Given the description of an element on the screen output the (x, y) to click on. 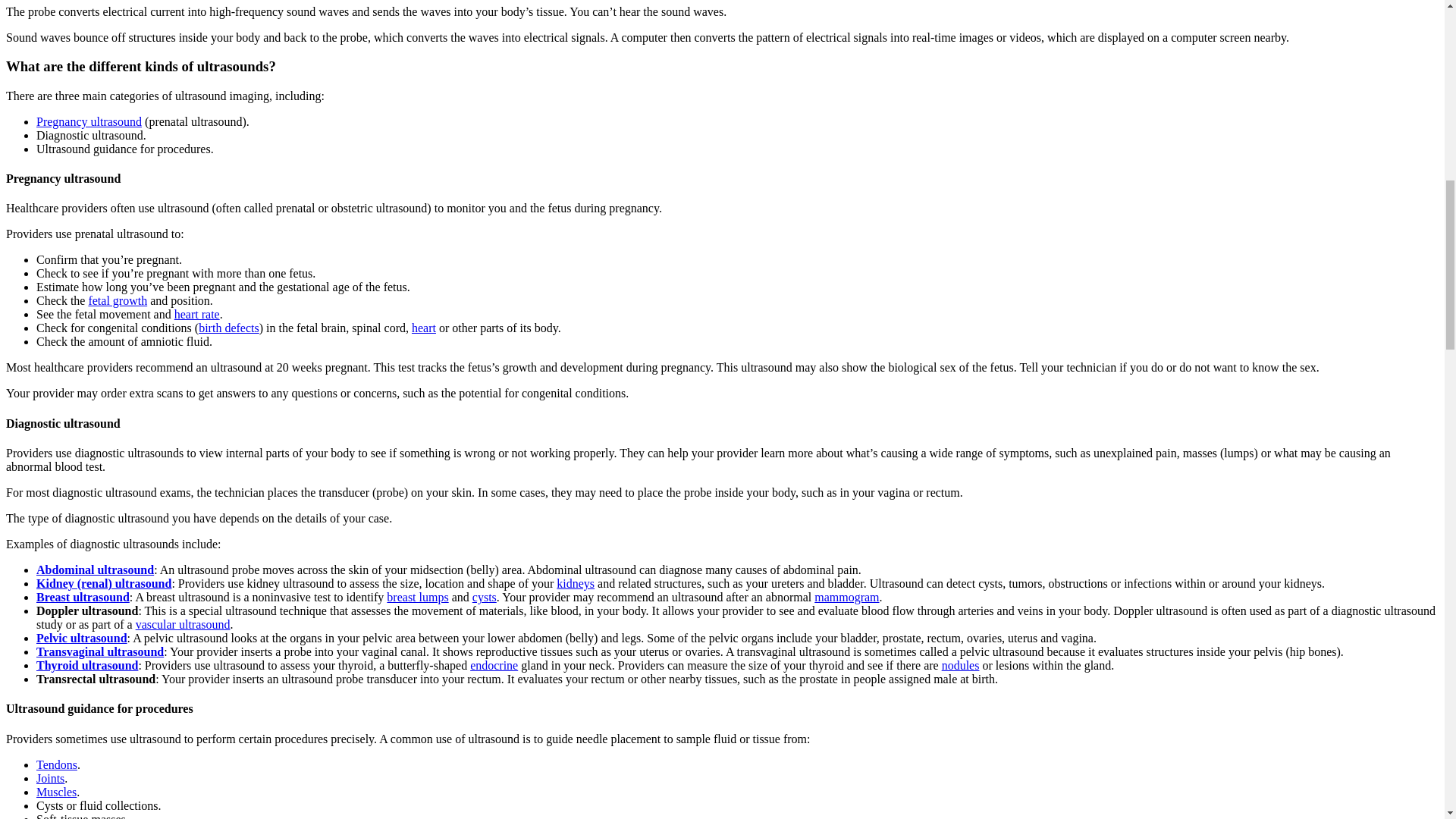
heart (423, 327)
heart rate (196, 314)
Pregnancy ultrasound (88, 121)
fetal growth (117, 300)
birth defects (228, 327)
